Given the description of an element on the screen output the (x, y) to click on. 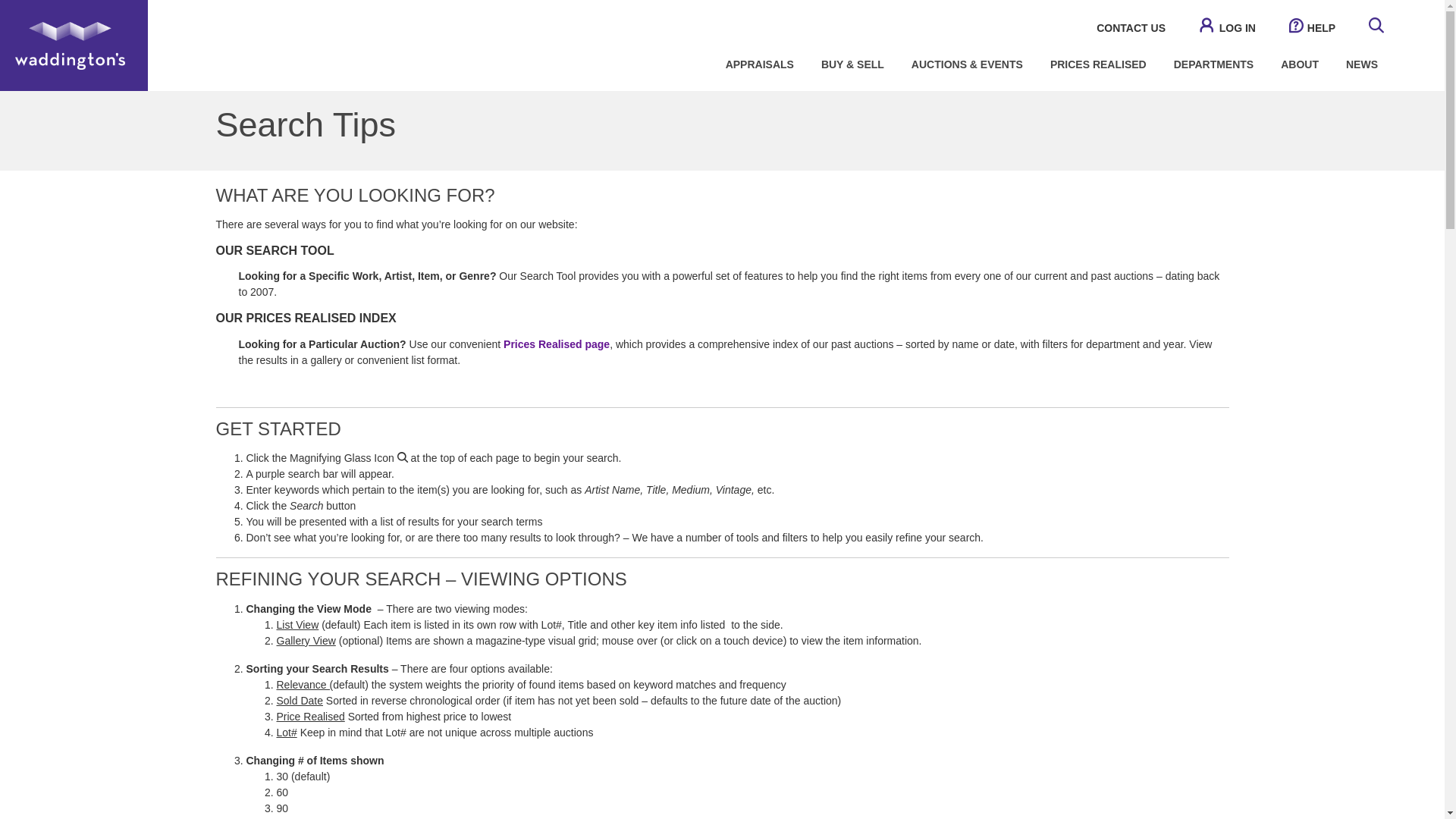
HELP (1311, 28)
ABOUT (1299, 63)
APPRAISALS (759, 63)
CONTACT US (1131, 28)
LOG IN (1226, 28)
DEPARTMENTS (1214, 63)
PRICES REALISED (1098, 63)
